Given the description of an element on the screen output the (x, y) to click on. 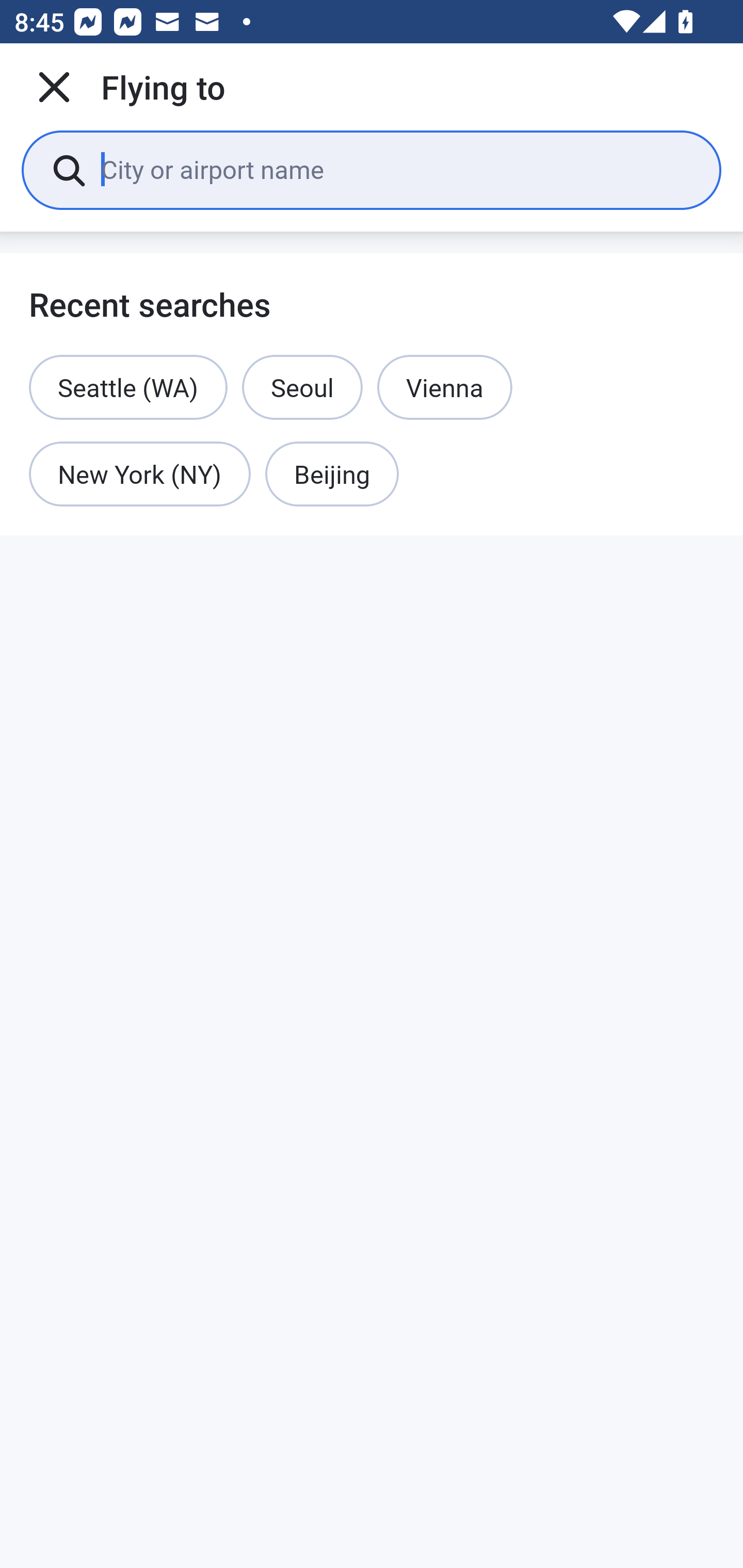
City or airport name (396, 169)
Seattle (WA) (127, 387)
Seoul (302, 387)
Vienna (444, 387)
New York (NY) (139, 474)
Beijing (331, 474)
